Given the description of an element on the screen output the (x, y) to click on. 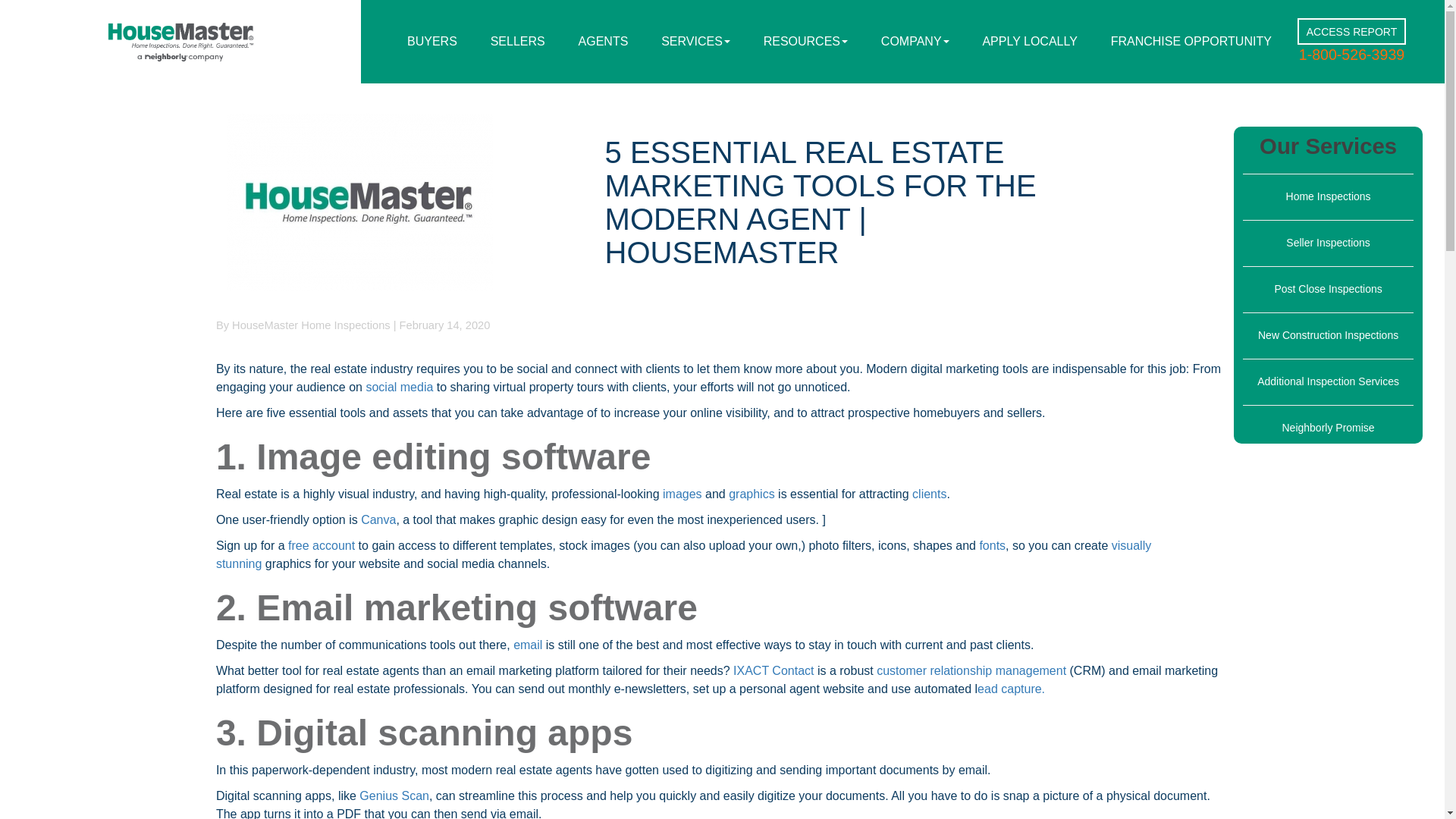
ACCESS REPORT (1351, 31)
Home Inspections (1328, 196)
Post Close Inspections (1327, 288)
APPLY LOCALLY (1029, 41)
FRANCHISE OPPORTUNITY (1191, 41)
COMPANY (914, 41)
New Construction Inspections (1327, 335)
Seller Inspections (1327, 242)
1-800-526-3939 (1351, 54)
SERVICES (695, 41)
RESOURCES (805, 41)
